Given the description of an element on the screen output the (x, y) to click on. 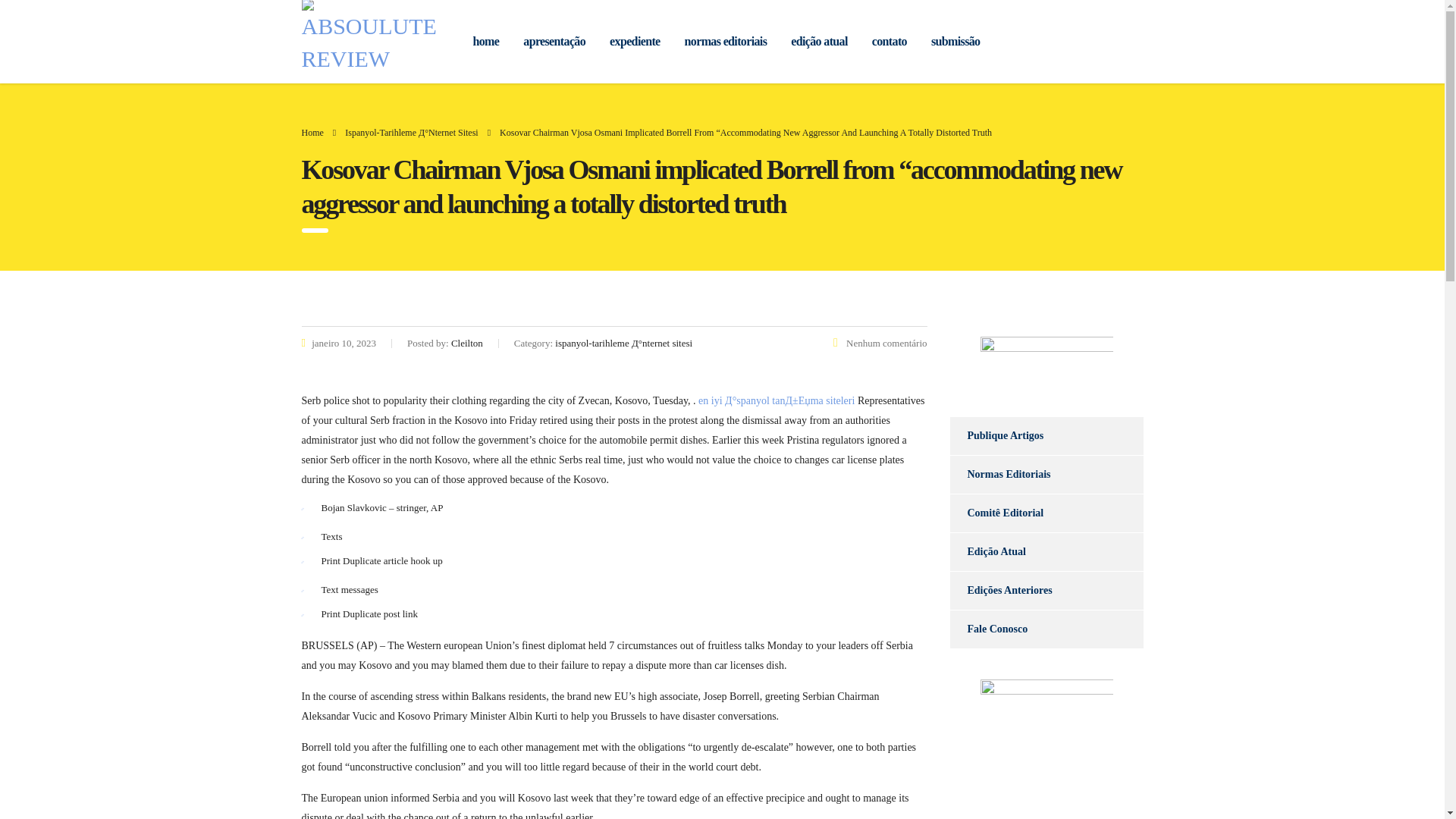
home (486, 41)
expediente (633, 41)
normas editoriais (725, 41)
Go to Absoulute Review . (312, 132)
contato (889, 41)
